Given the description of an element on the screen output the (x, y) to click on. 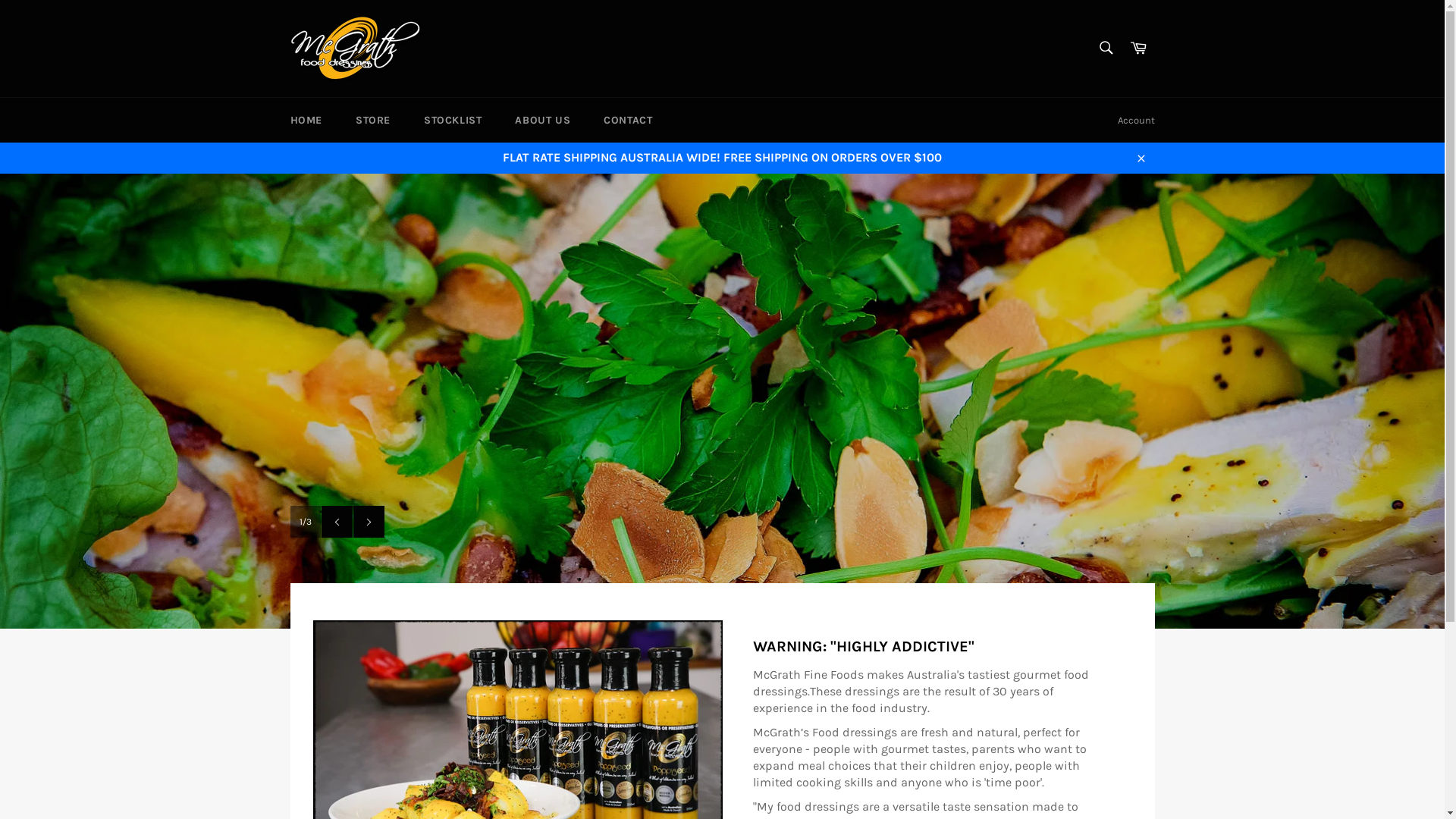
STORE Element type: text (372, 119)
Next slide Element type: text (368, 521)
CONTACT Element type: text (627, 119)
Search Element type: text (1105, 47)
Previous slide Element type: text (336, 521)
Close Element type: text (1139, 157)
Cart Element type: text (1138, 48)
Account Element type: text (1136, 120)
HOME Element type: text (305, 119)
STOCKLIST Element type: text (452, 119)
ABOUT US Element type: text (542, 119)
